Given the description of an element on the screen output the (x, y) to click on. 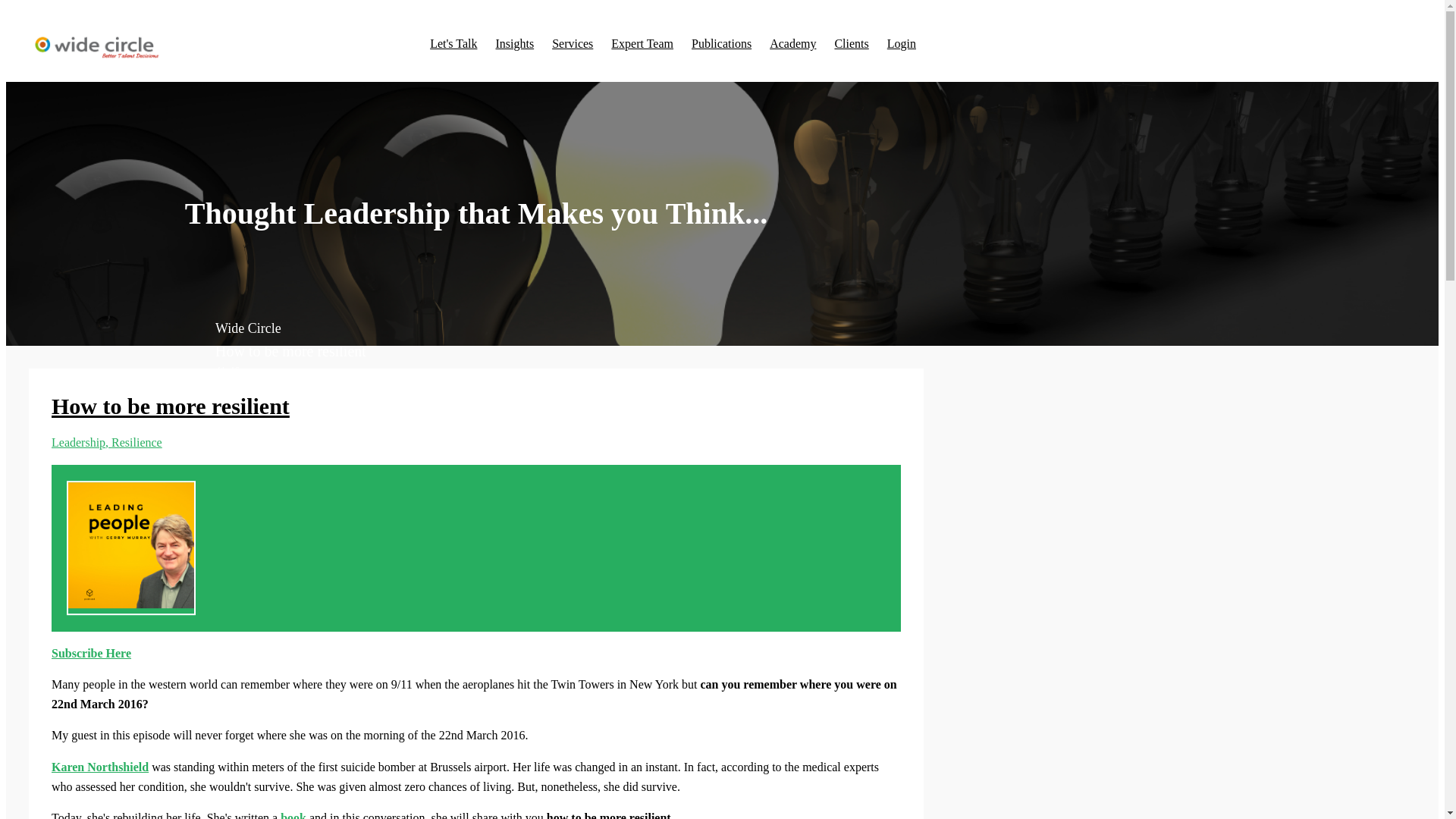
Login (900, 43)
Subscribe Here (90, 653)
Publications (721, 43)
Karen Northshield (99, 766)
Insights (514, 43)
Let's Talk (453, 43)
book (293, 815)
Academy (792, 43)
Expert Team (641, 43)
Services (571, 43)
